Given the description of an element on the screen output the (x, y) to click on. 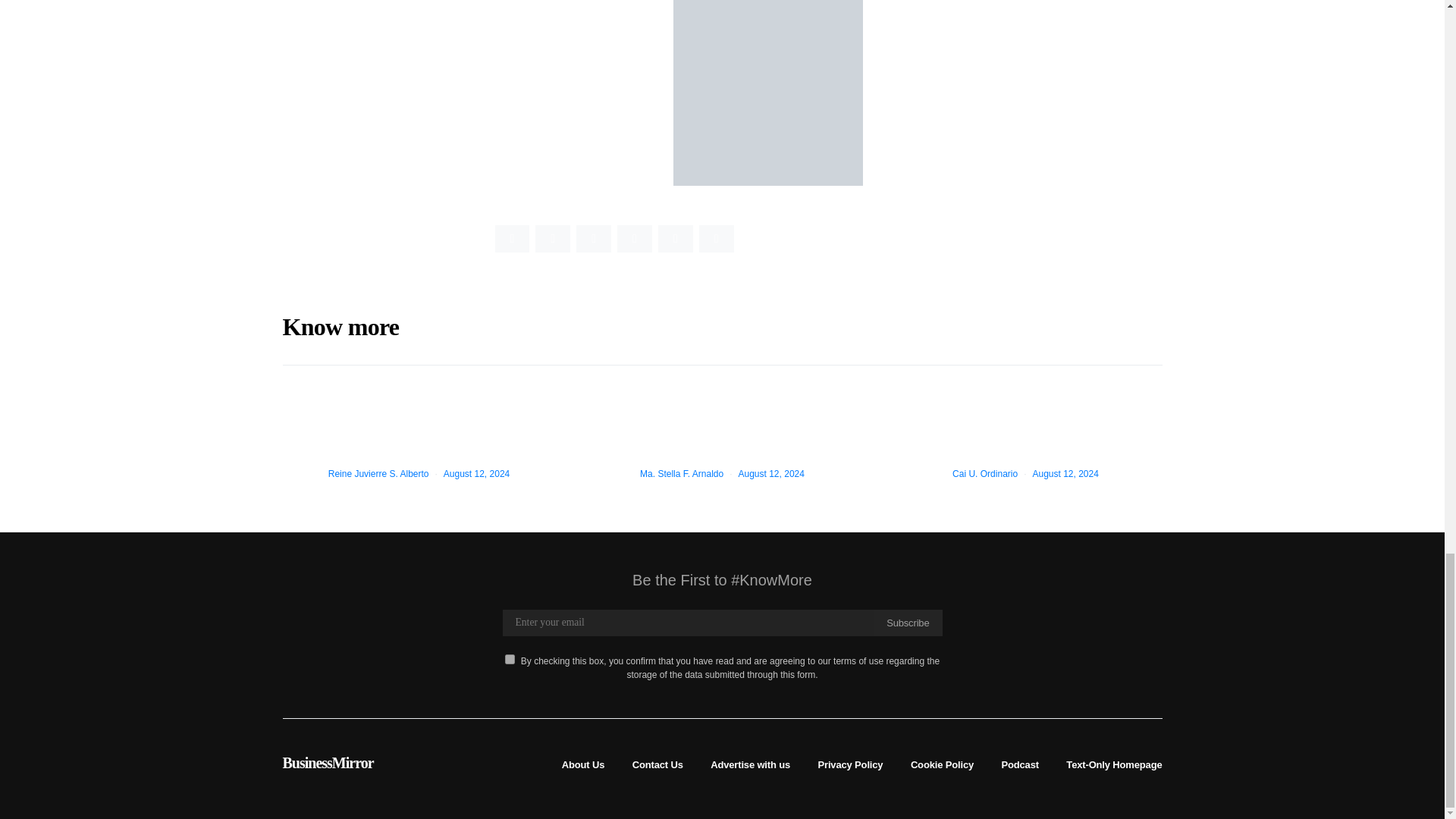
on (510, 659)
View all posts by Cai U. Ordinario (984, 473)
View all posts by Reine Juvierre S. Alberto (379, 473)
View all posts by Ma. Stella F. Arnaldo (681, 473)
